Given the description of an element on the screen output the (x, y) to click on. 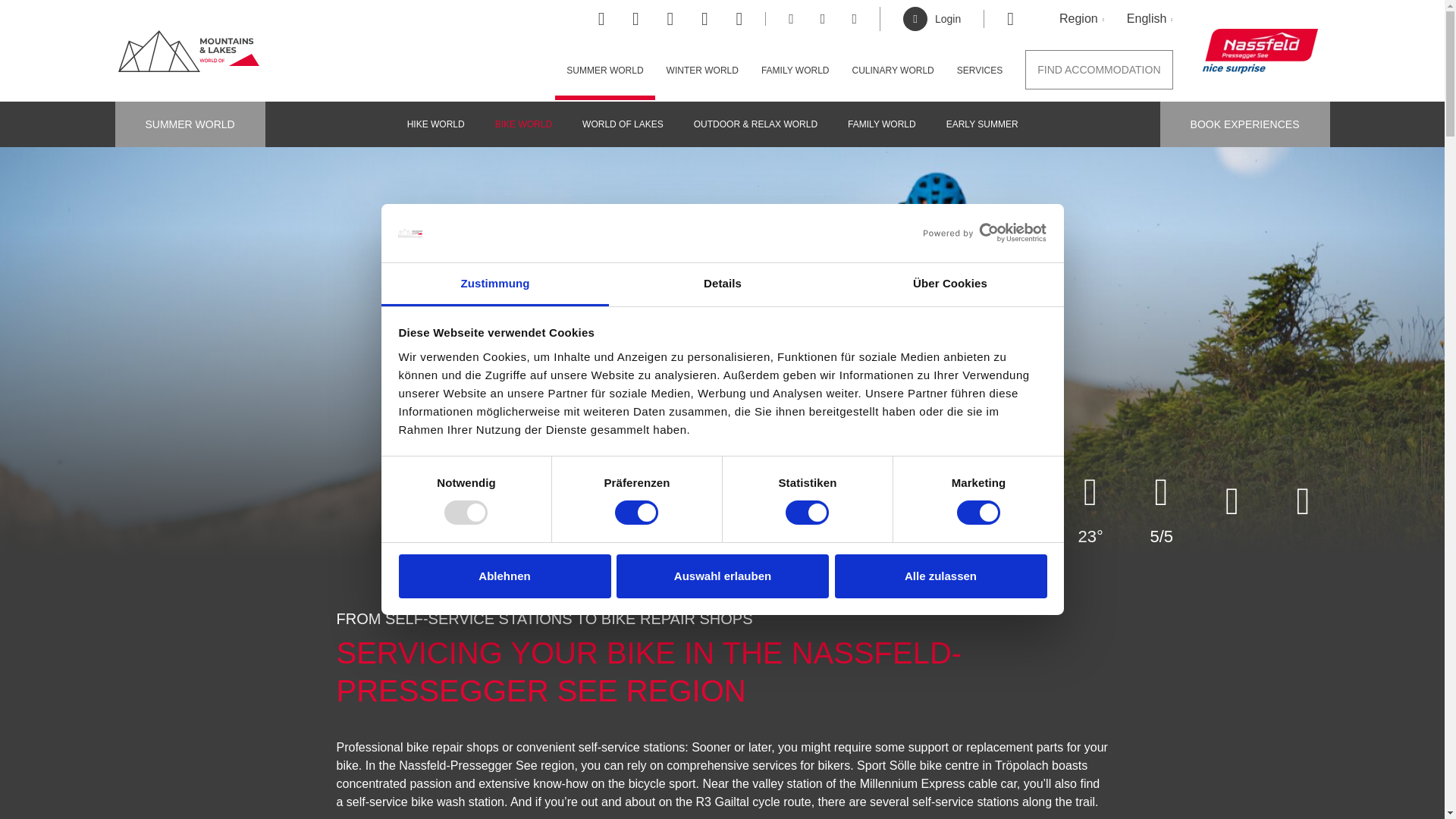
Details (721, 284)
Zustimmung (494, 284)
